Given the description of an element on the screen output the (x, y) to click on. 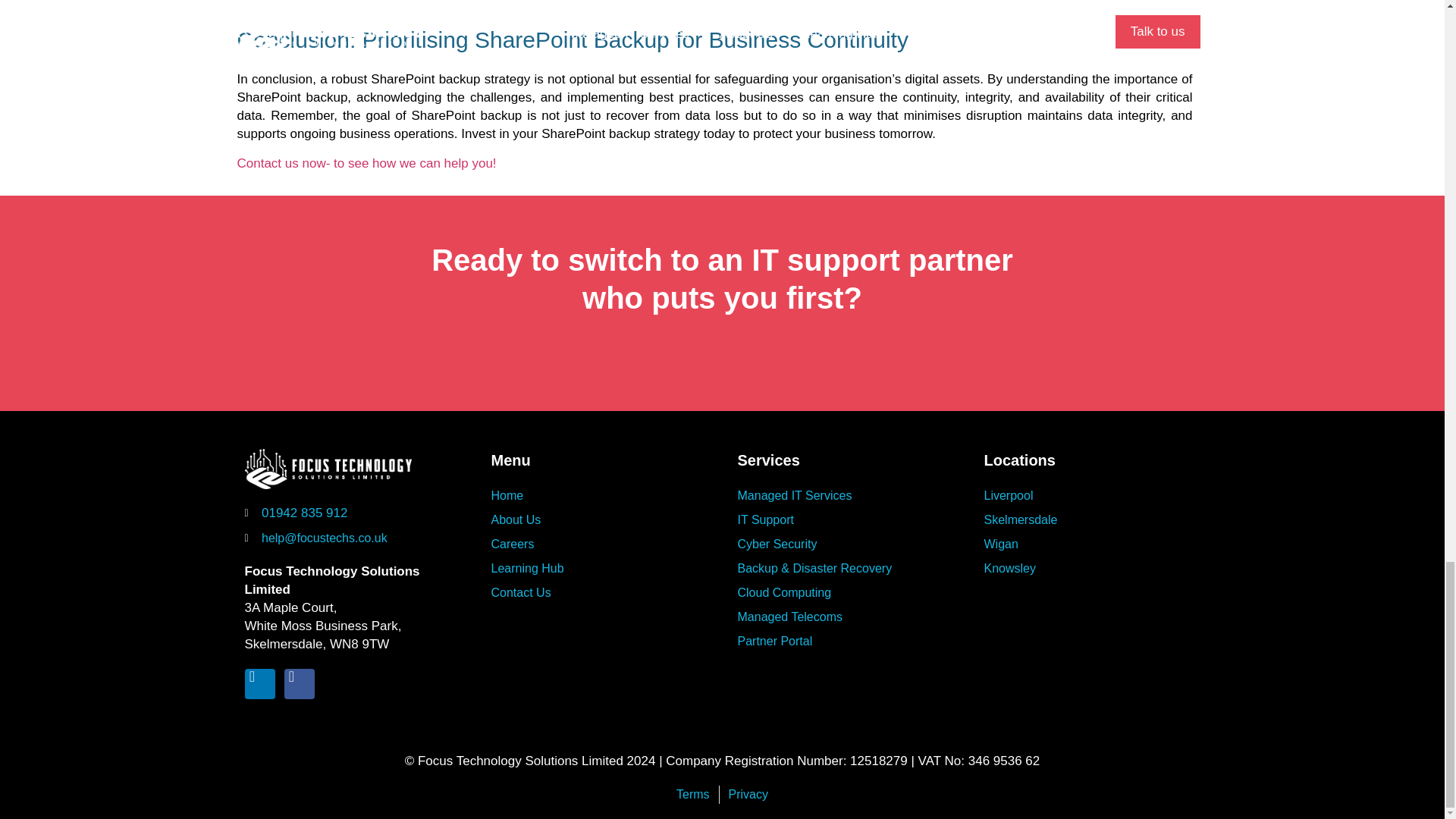
Opens ConnectWise Client Portal - Login to view your tickets (844, 641)
